Given the description of an element on the screen output the (x, y) to click on. 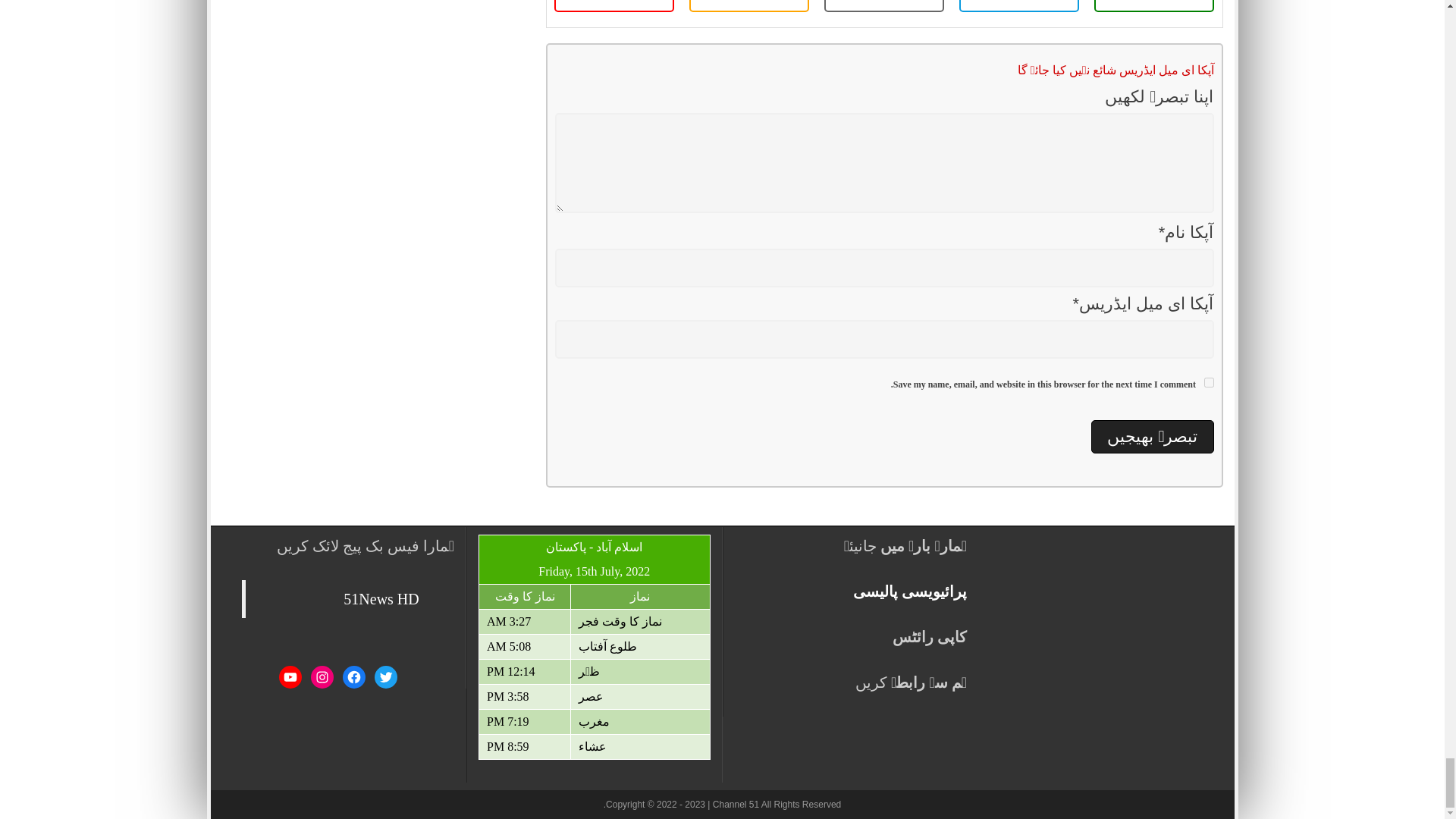
yes (1209, 382)
